Given the description of an element on the screen output the (x, y) to click on. 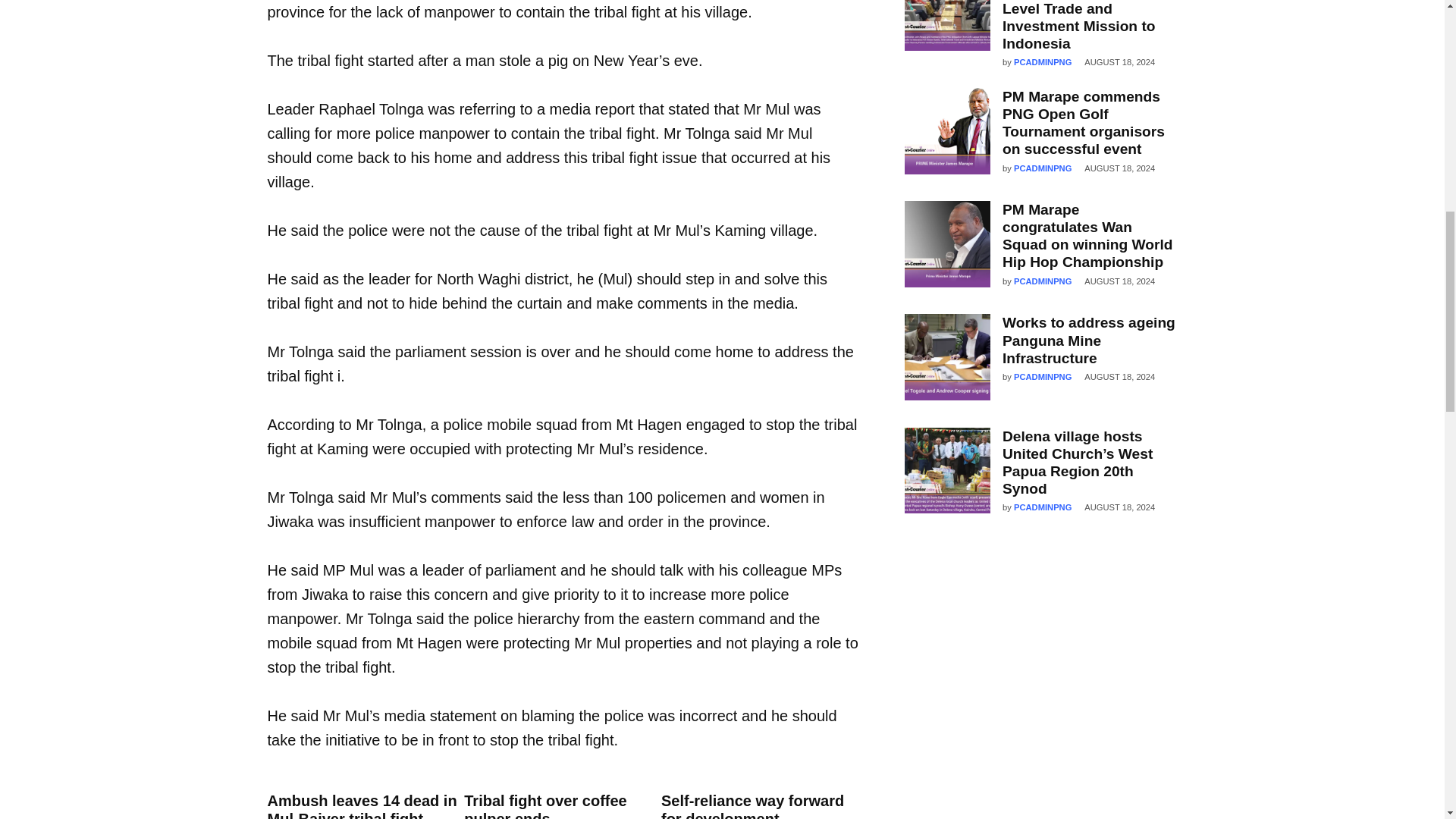
Tribal fight over coffee pulper ends (545, 805)
Ambush leaves 14 dead in Mul-Baiyer tribal fight (361, 805)
VideoPress Video Player (1040, 686)
Self-reliance way forward for development (752, 805)
